Given the description of an element on the screen output the (x, y) to click on. 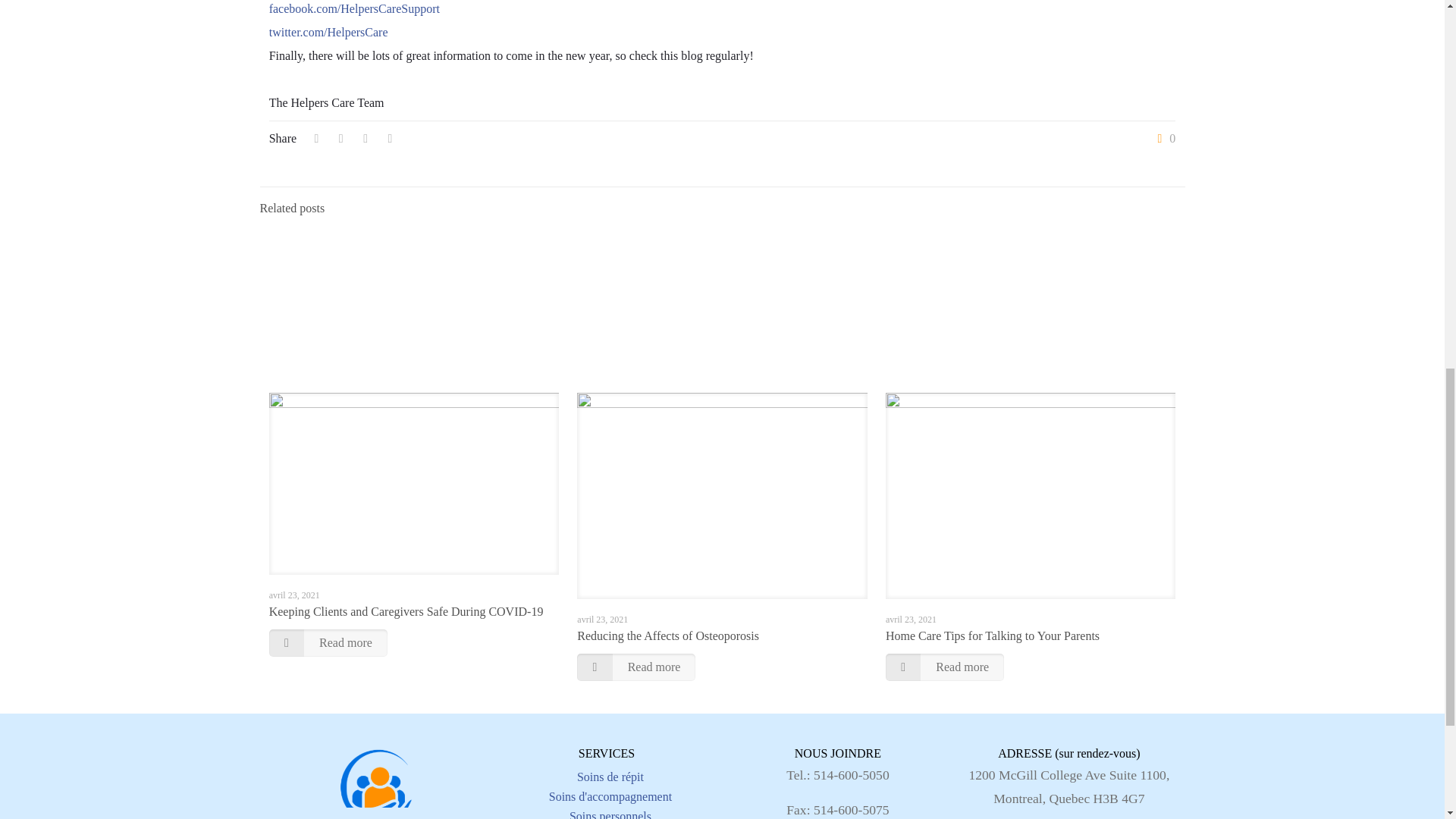
0 (1162, 138)
